Given the description of an element on the screen output the (x, y) to click on. 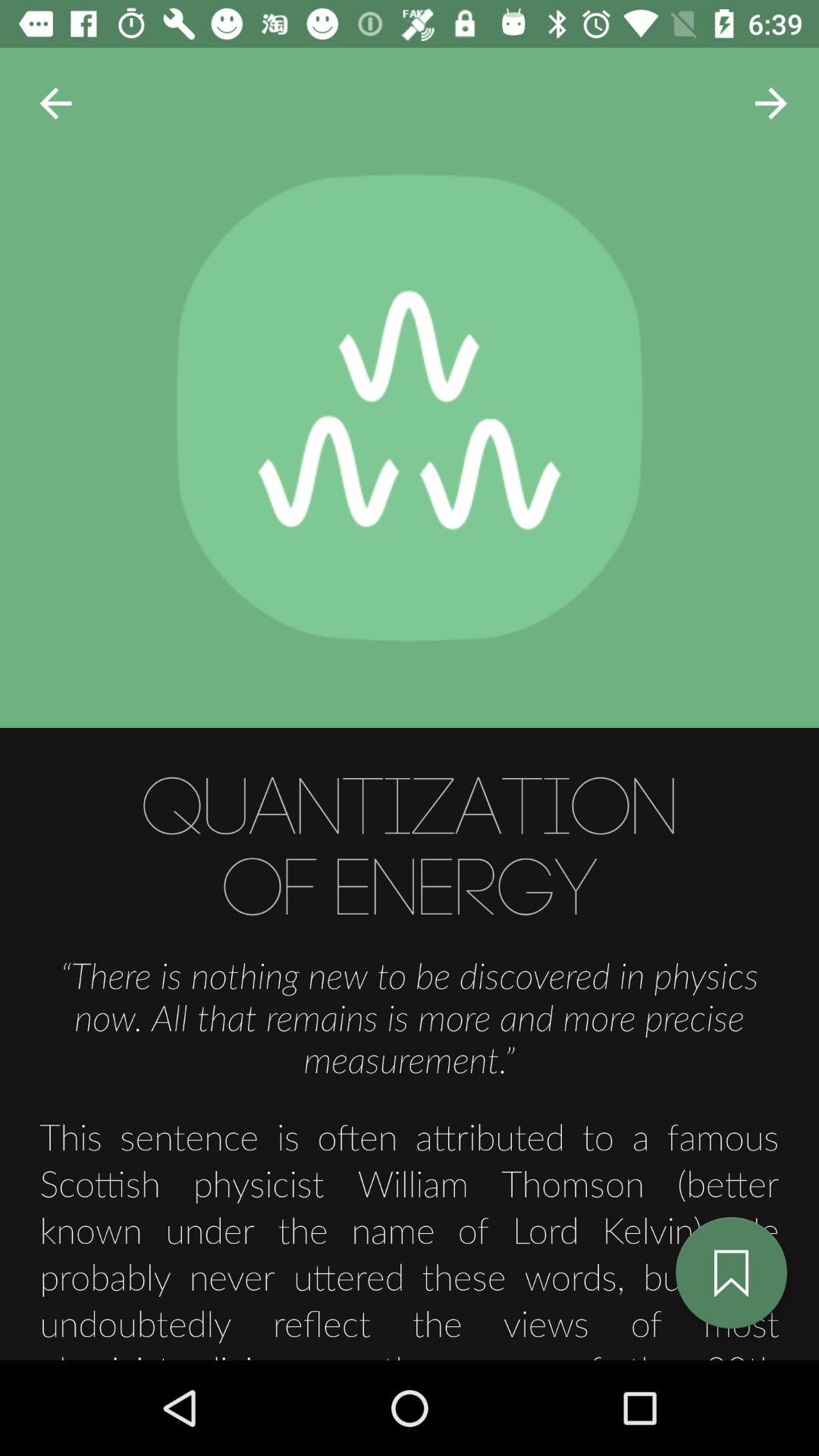
back (55, 103)
